Given the description of an element on the screen output the (x, y) to click on. 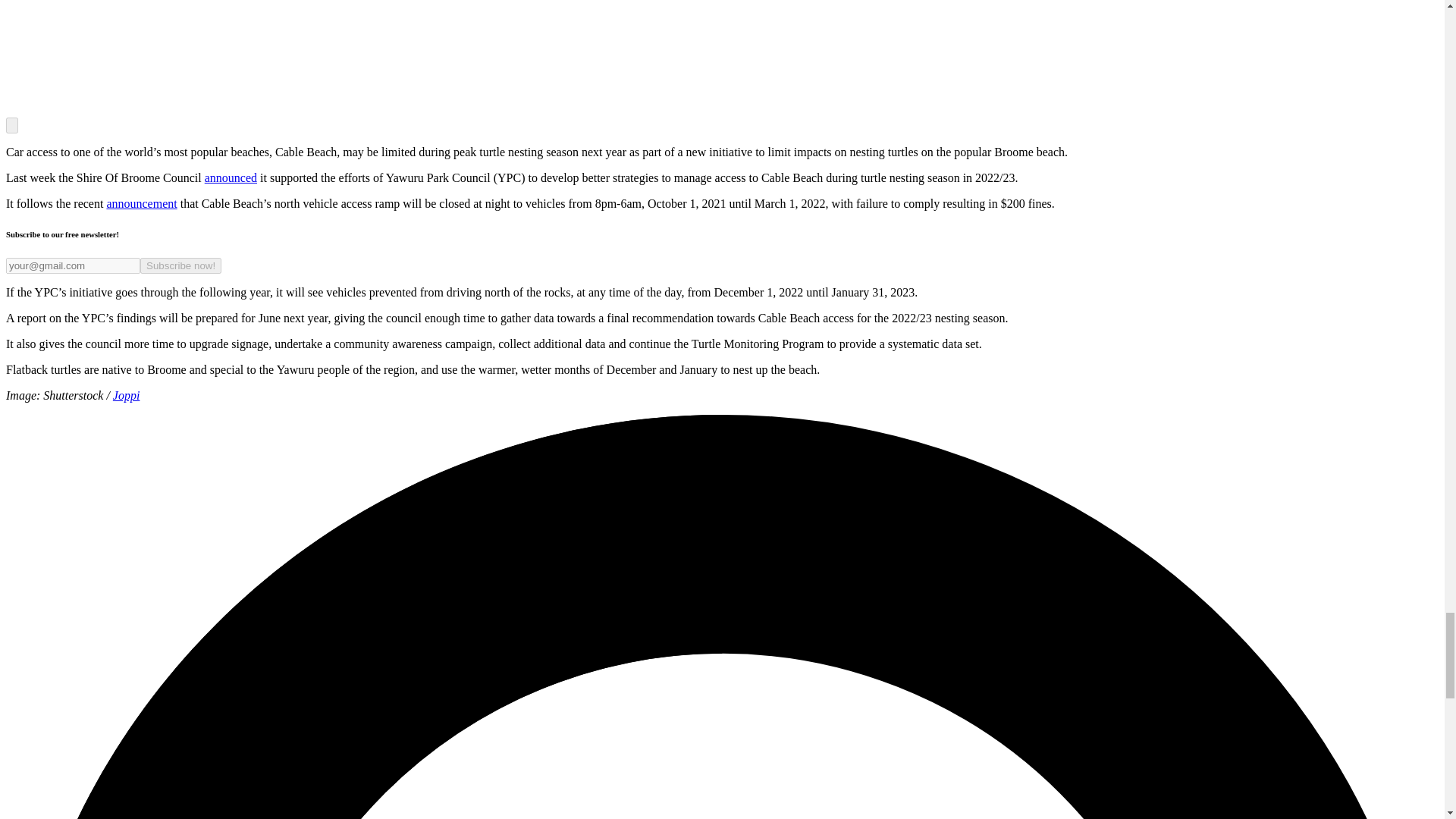
announced (231, 177)
Joppi (126, 395)
announcement (141, 203)
Subscribe now! (180, 265)
